Given the description of an element on the screen output the (x, y) to click on. 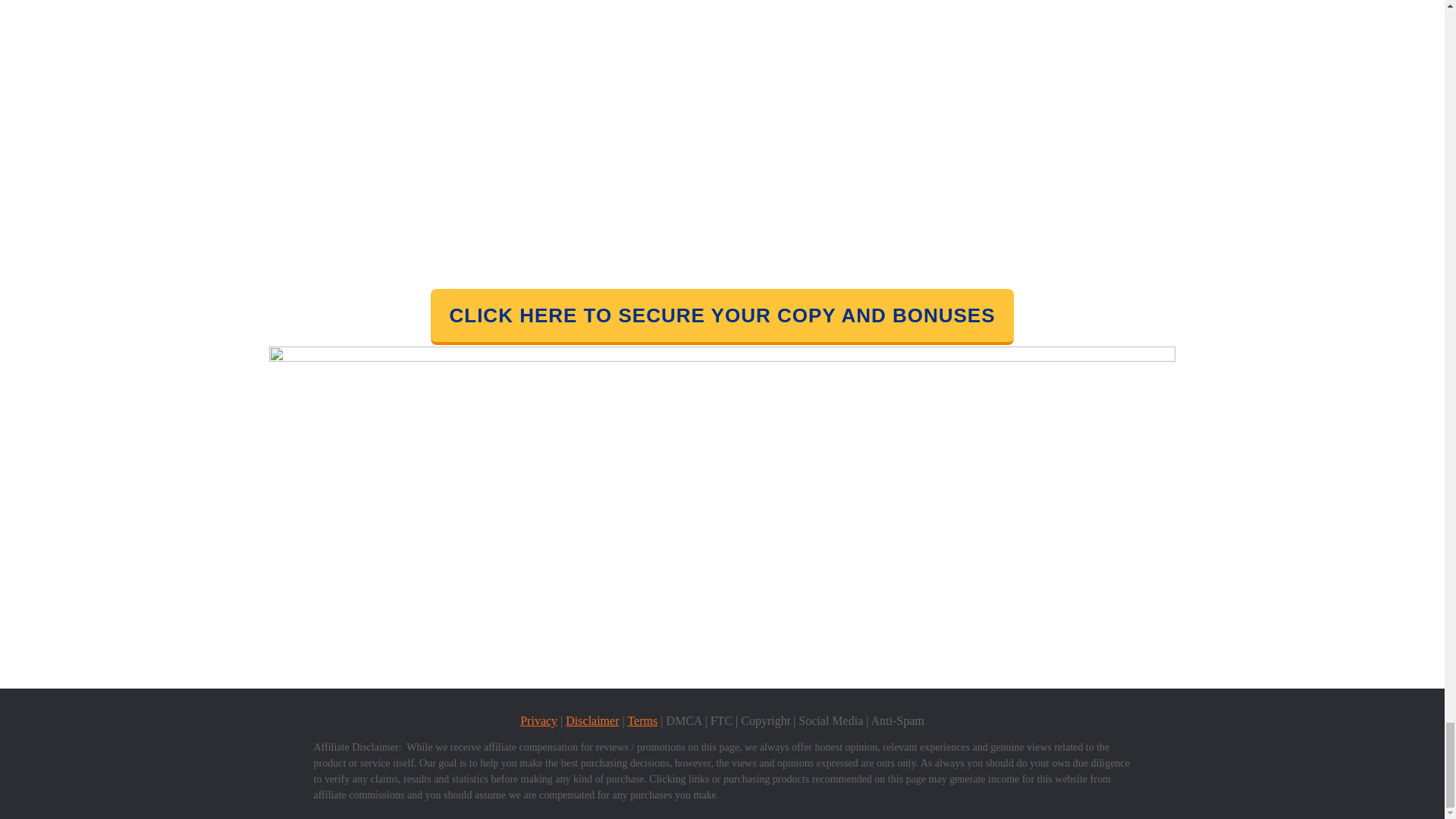
CLICK HERE TO SECURE YOUR COPY AND BONUSES (721, 316)
Privacy (538, 720)
Disclaimer (592, 720)
Terms (642, 720)
